Given the description of an element on the screen output the (x, y) to click on. 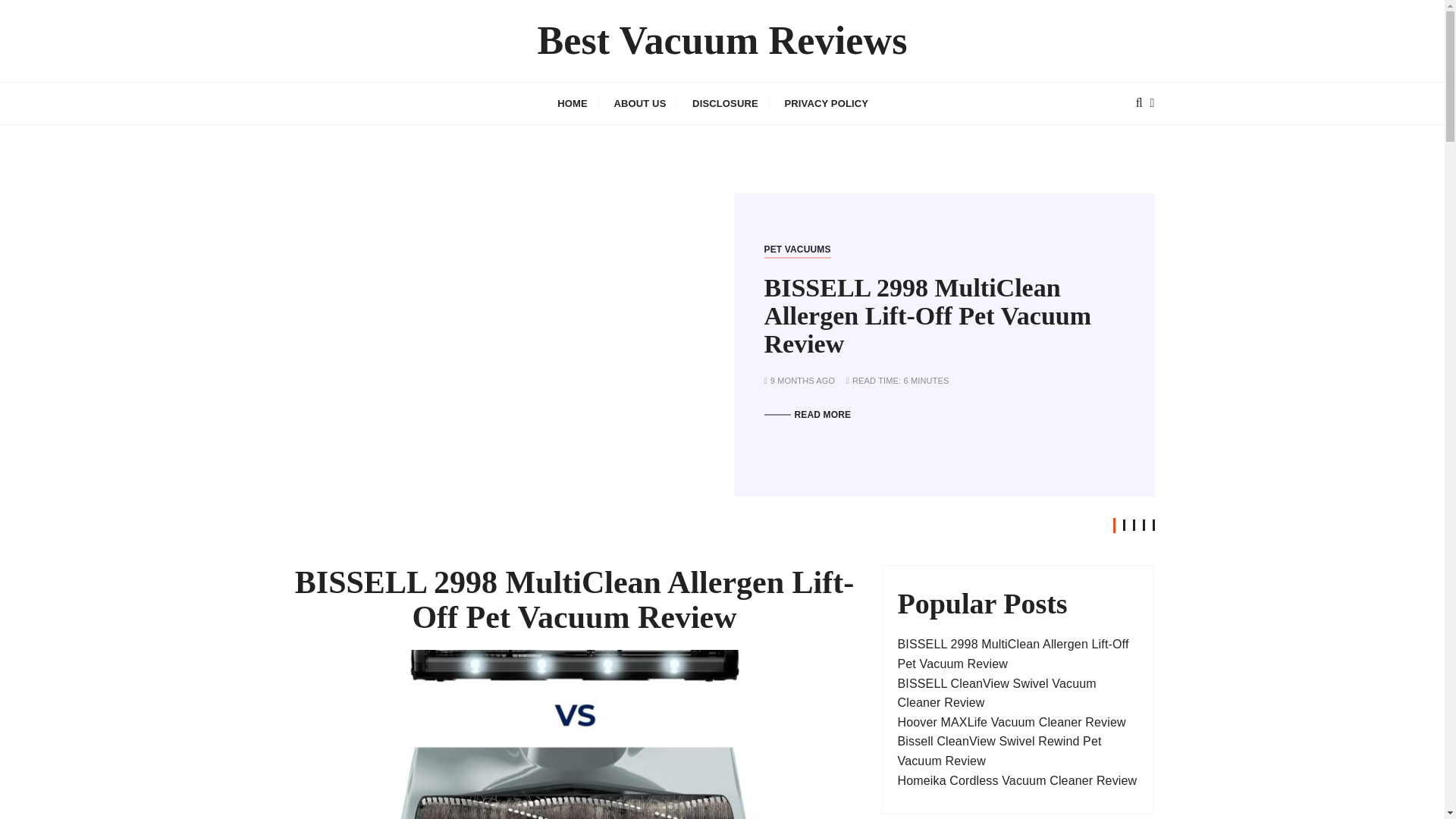
HOME (572, 103)
ABOUT US (639, 103)
DISCLOSURE (725, 103)
Best Vacuum Reviews (722, 40)
PRIVACY POLICY (826, 103)
PET VACUUMS (797, 249)
READ MORE (807, 414)
BISSELL 2998 MultiClean Allergen Lift-Off Pet Vacuum Review (928, 315)
